Given the description of an element on the screen output the (x, y) to click on. 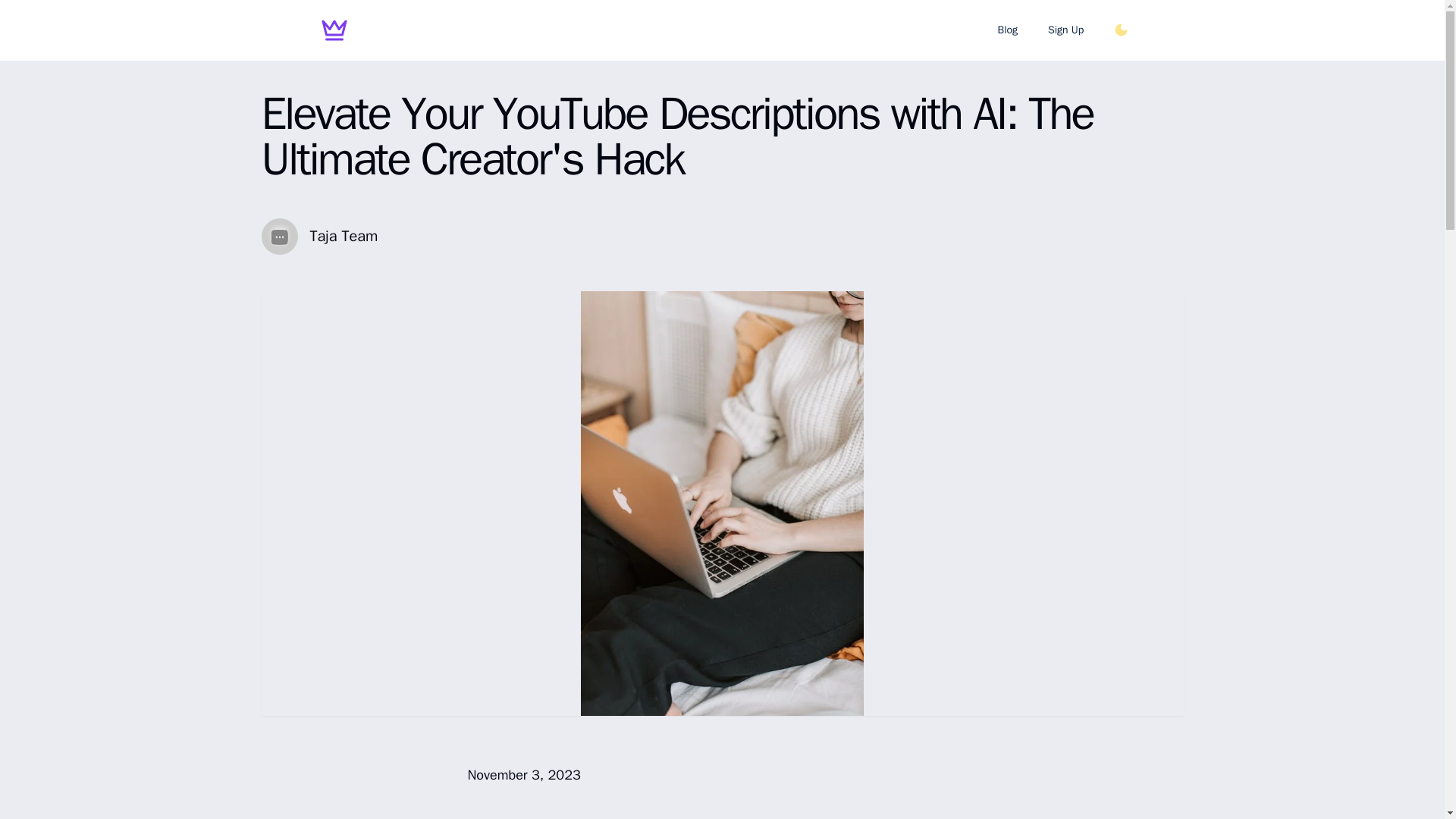
Toggle theme (1121, 30)
Blog (1007, 30)
Sign Up (1065, 30)
